Given the description of an element on the screen output the (x, y) to click on. 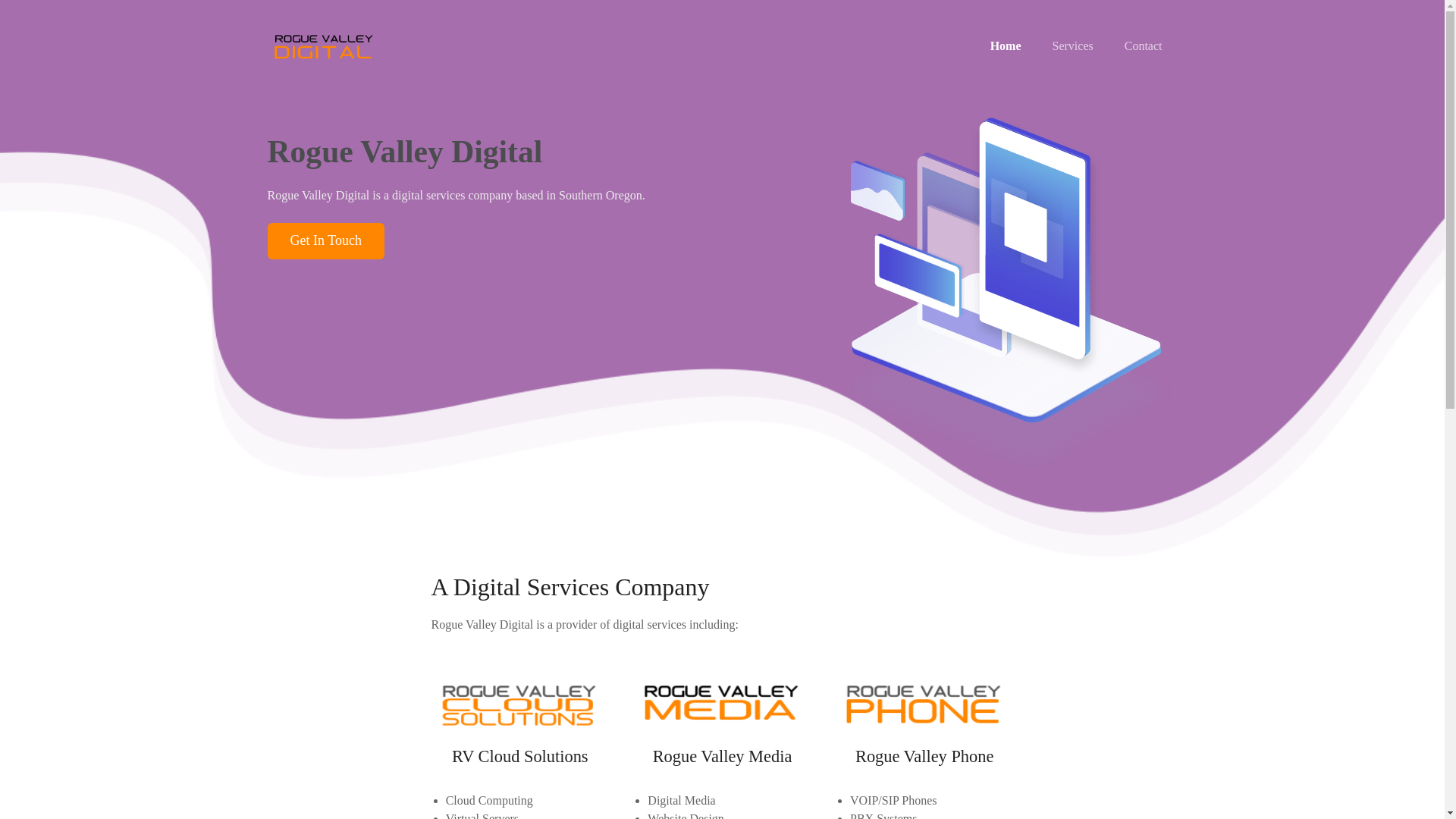
Rogue Valley Media (721, 756)
Home (1005, 45)
Contact (1143, 45)
Get In Touch (325, 240)
Rogue Valley Phone (924, 756)
RV Cloud Solutions (519, 756)
Services (1072, 45)
